Given the description of an element on the screen output the (x, y) to click on. 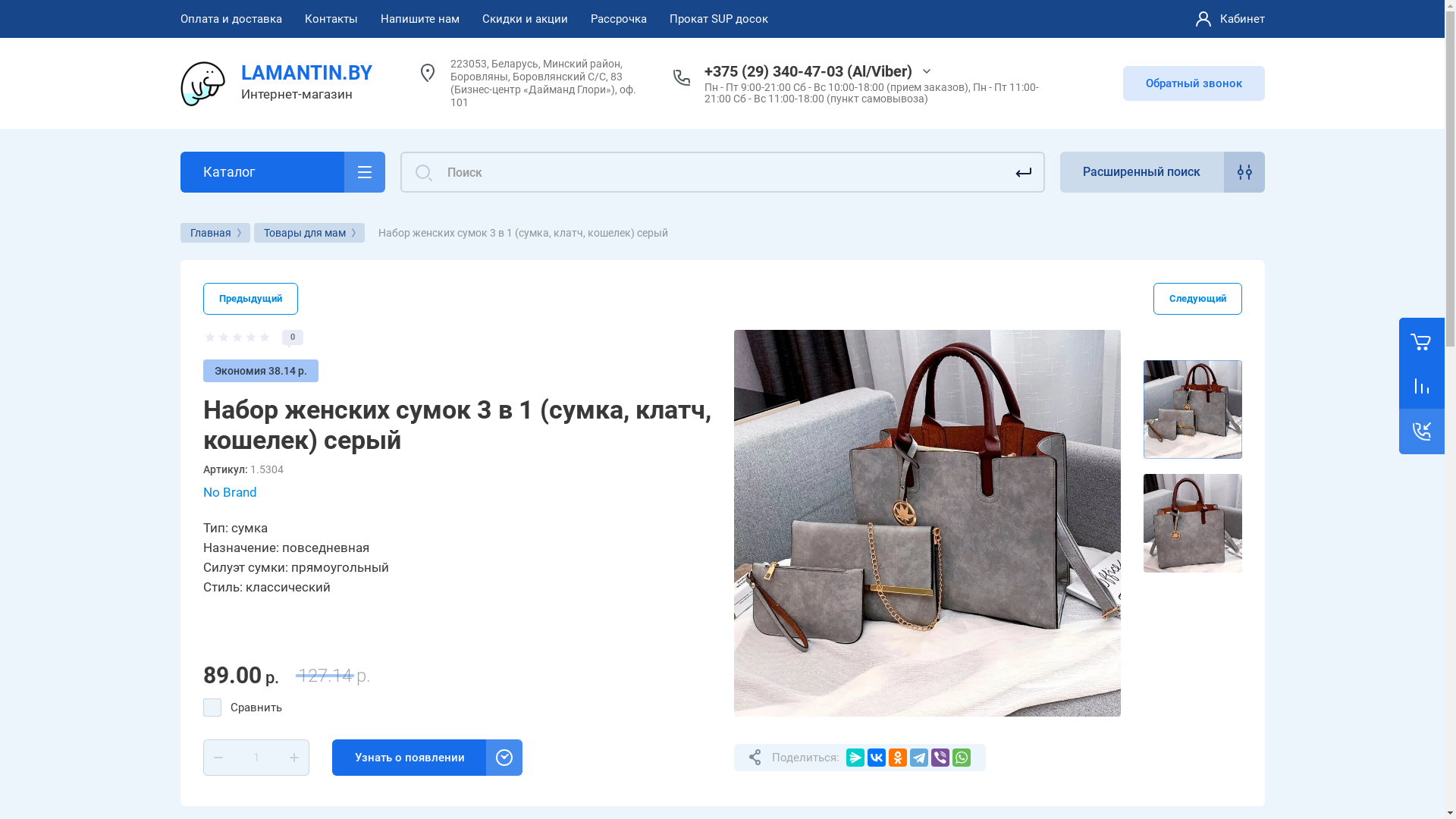
Telegram Element type: hover (919, 757)
No Brand Element type: text (230, 492)
+ Element type: text (294, 757)
LAMANTIN.BY Element type: text (306, 72)
WhatsApp Element type: hover (961, 757)
Viber Element type: hover (940, 757)
